Given the description of an element on the screen output the (x, y) to click on. 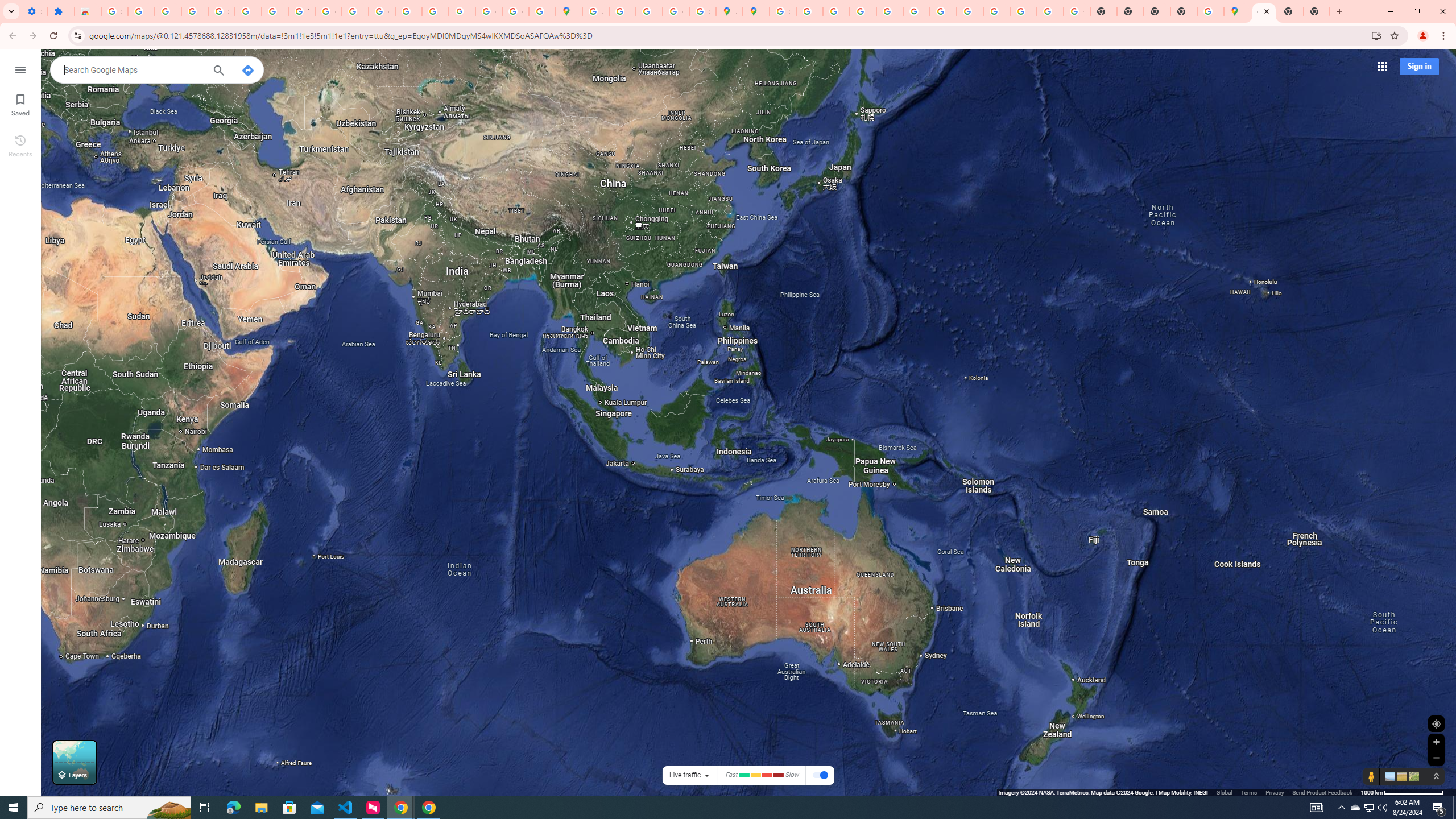
Google Maps (569, 11)
https://scholar.google.com/ (355, 11)
New Tab (1316, 11)
Layers (74, 762)
YouTube (943, 11)
Privacy Help Center - Policies Help (862, 11)
Use Google Maps in Space - Google Maps Help (1210, 11)
